Given the description of an element on the screen output the (x, y) to click on. 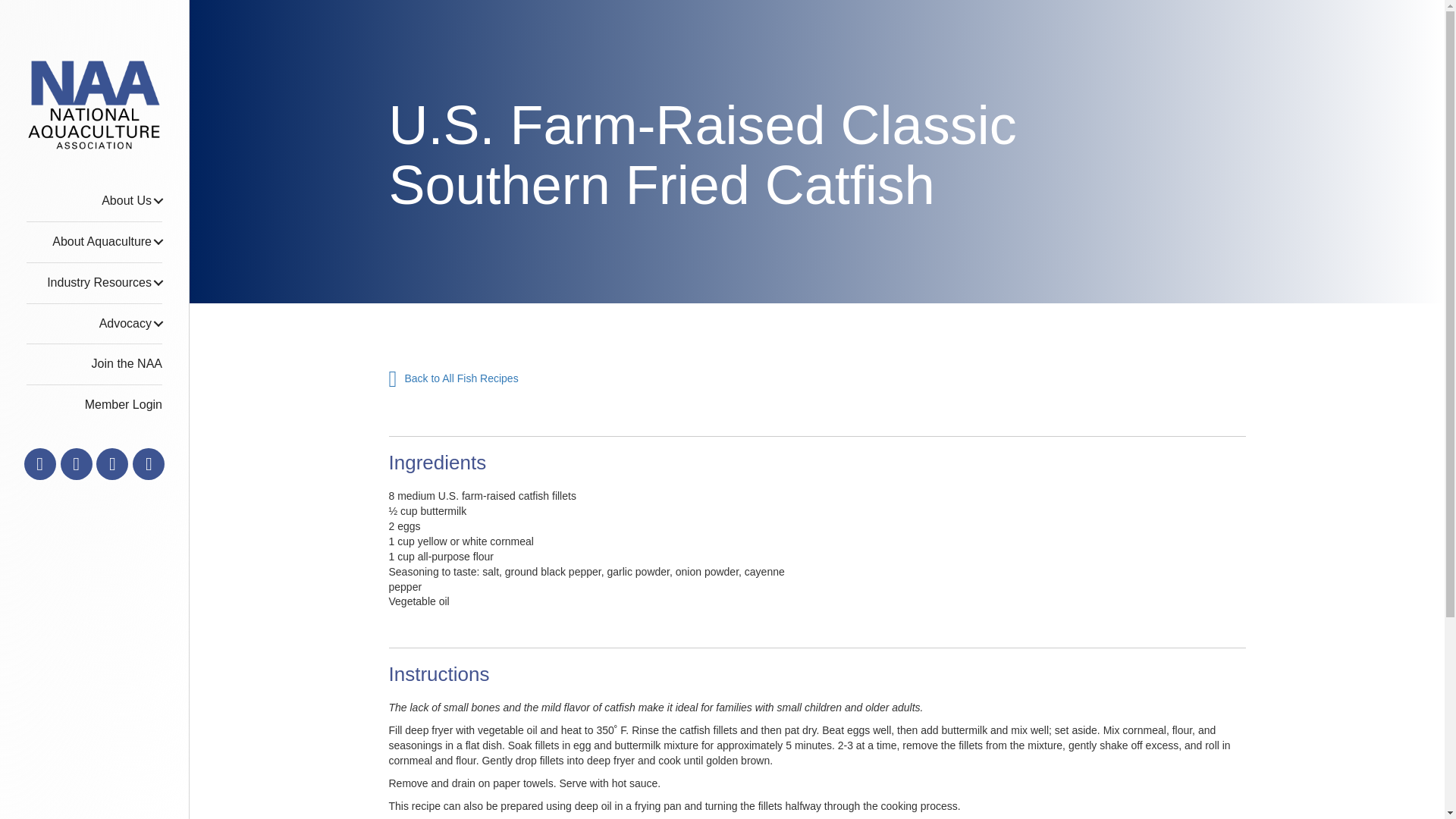
Advocacy (93, 323)
Join the NAA (93, 363)
Industry Resources (93, 282)
About Aquaculture (93, 241)
Back to All Fish Recipes (449, 379)
About Us (93, 200)
Member Login (93, 404)
